Given the description of an element on the screen output the (x, y) to click on. 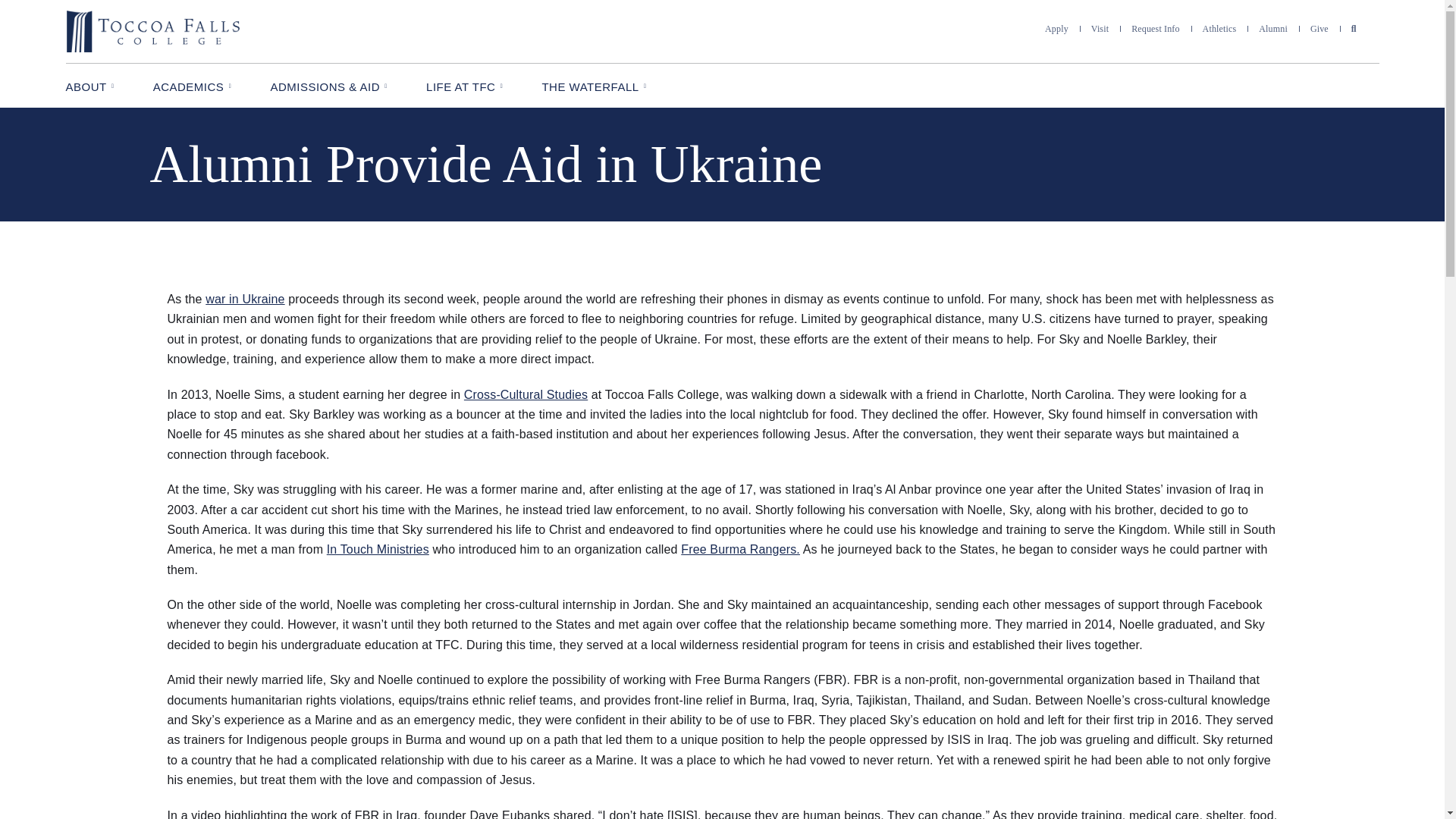
Visit (1099, 28)
Give (1318, 28)
ACADEMICS (192, 85)
Request Info (1155, 28)
Athletics (1219, 28)
ABOUT (90, 85)
Alumni (1273, 28)
Apply (1056, 28)
